Given the description of an element on the screen output the (x, y) to click on. 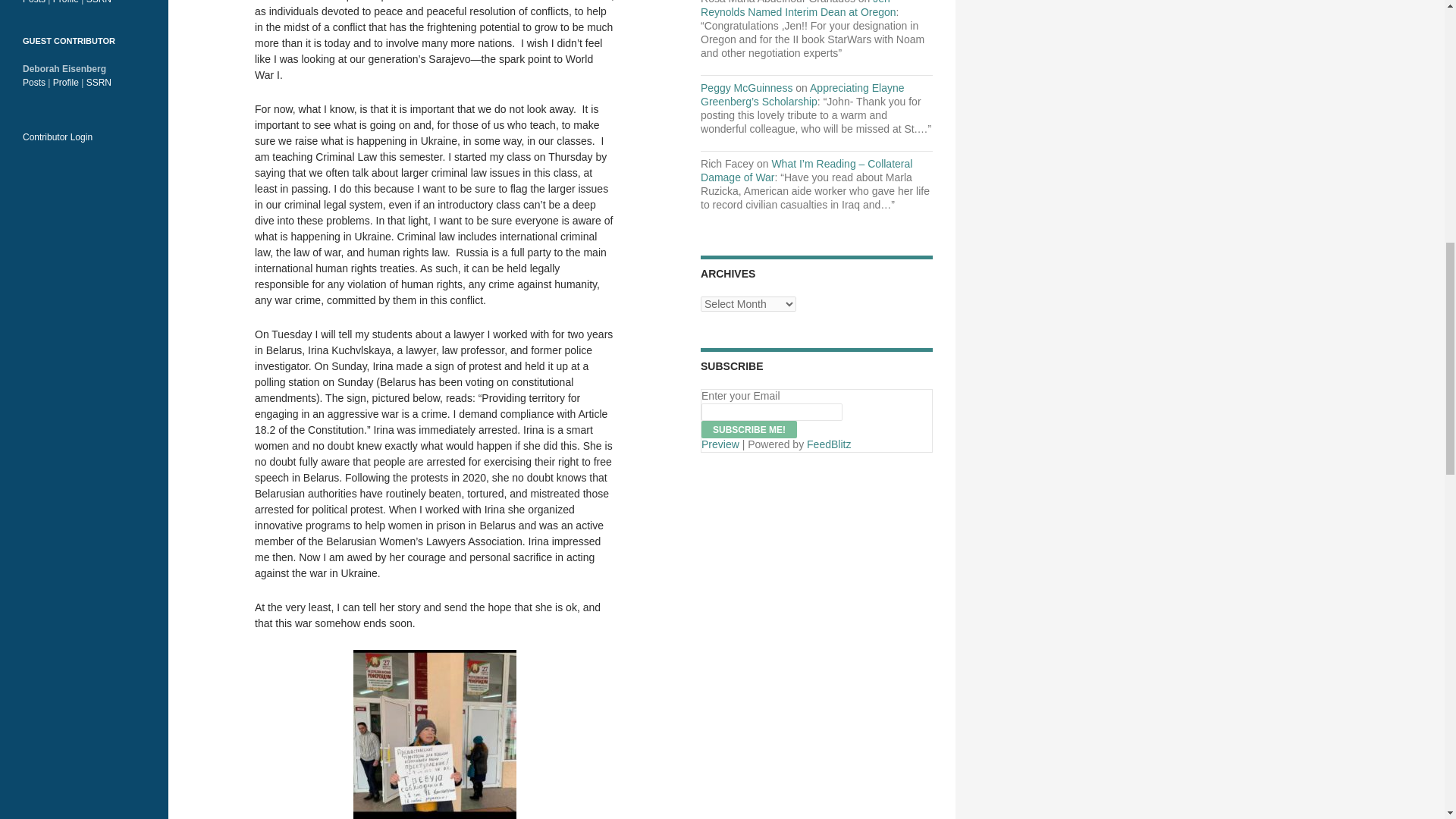
Subscribe me! (748, 429)
Peggy McGuinness (746, 87)
Jen Reynolds Named Interim Dean at Oregon (798, 9)
Subscribe me! (748, 429)
